Given the description of an element on the screen output the (x, y) to click on. 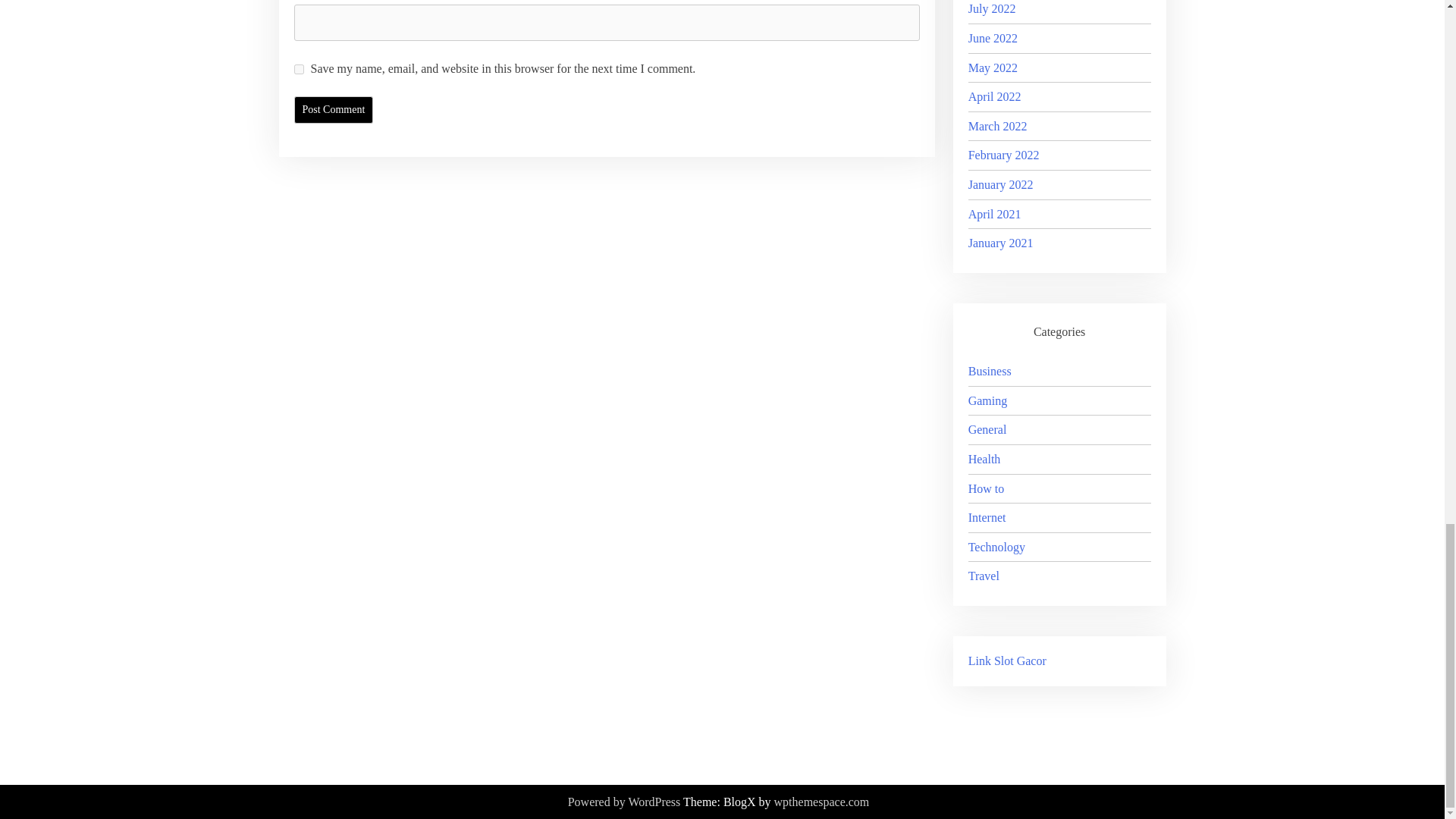
Post Comment (334, 109)
Post Comment (334, 109)
yes (299, 69)
